Given the description of an element on the screen output the (x, y) to click on. 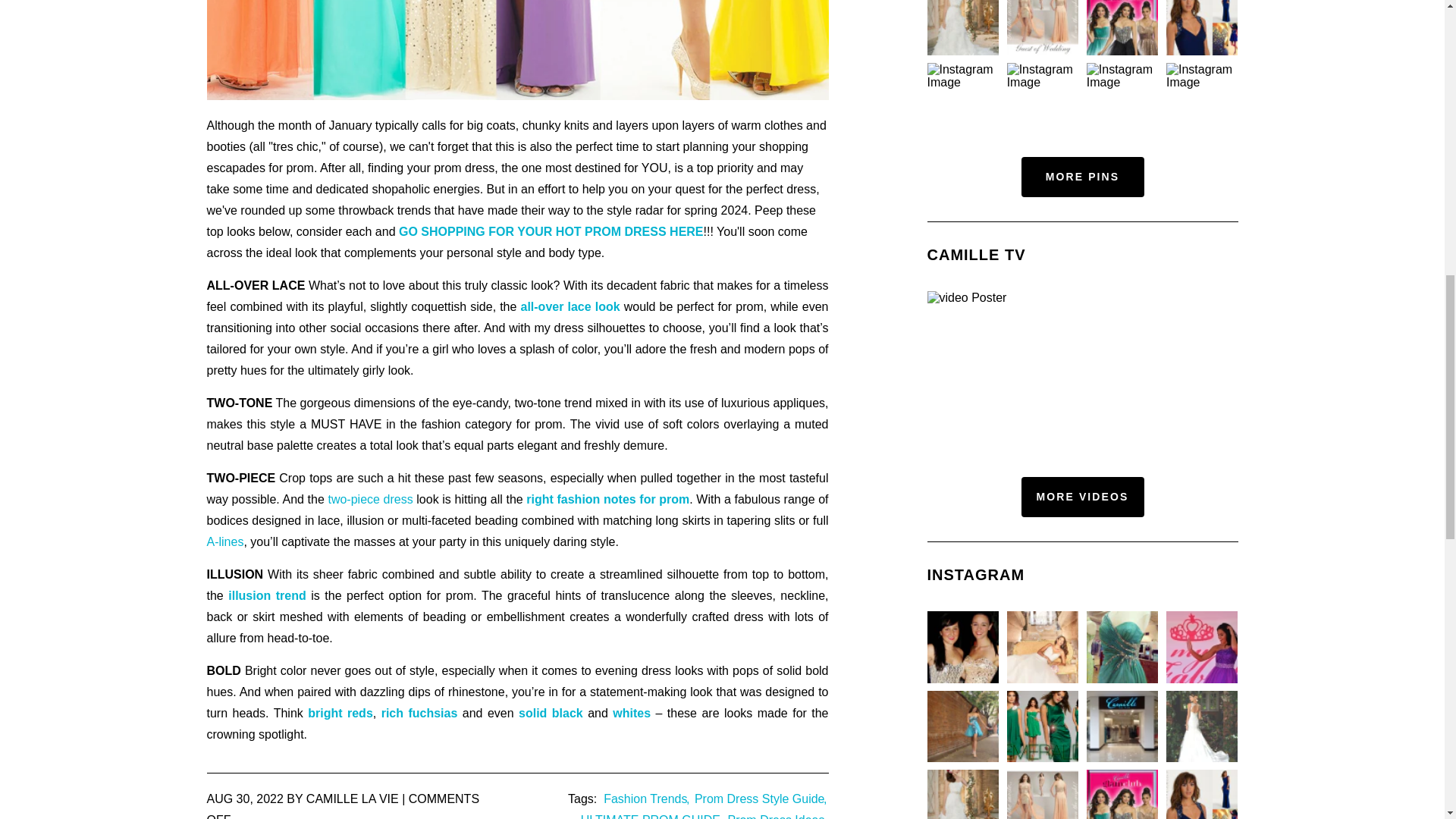
top trends in prom dresses for 2014 (550, 231)
